Given the description of an element on the screen output the (x, y) to click on. 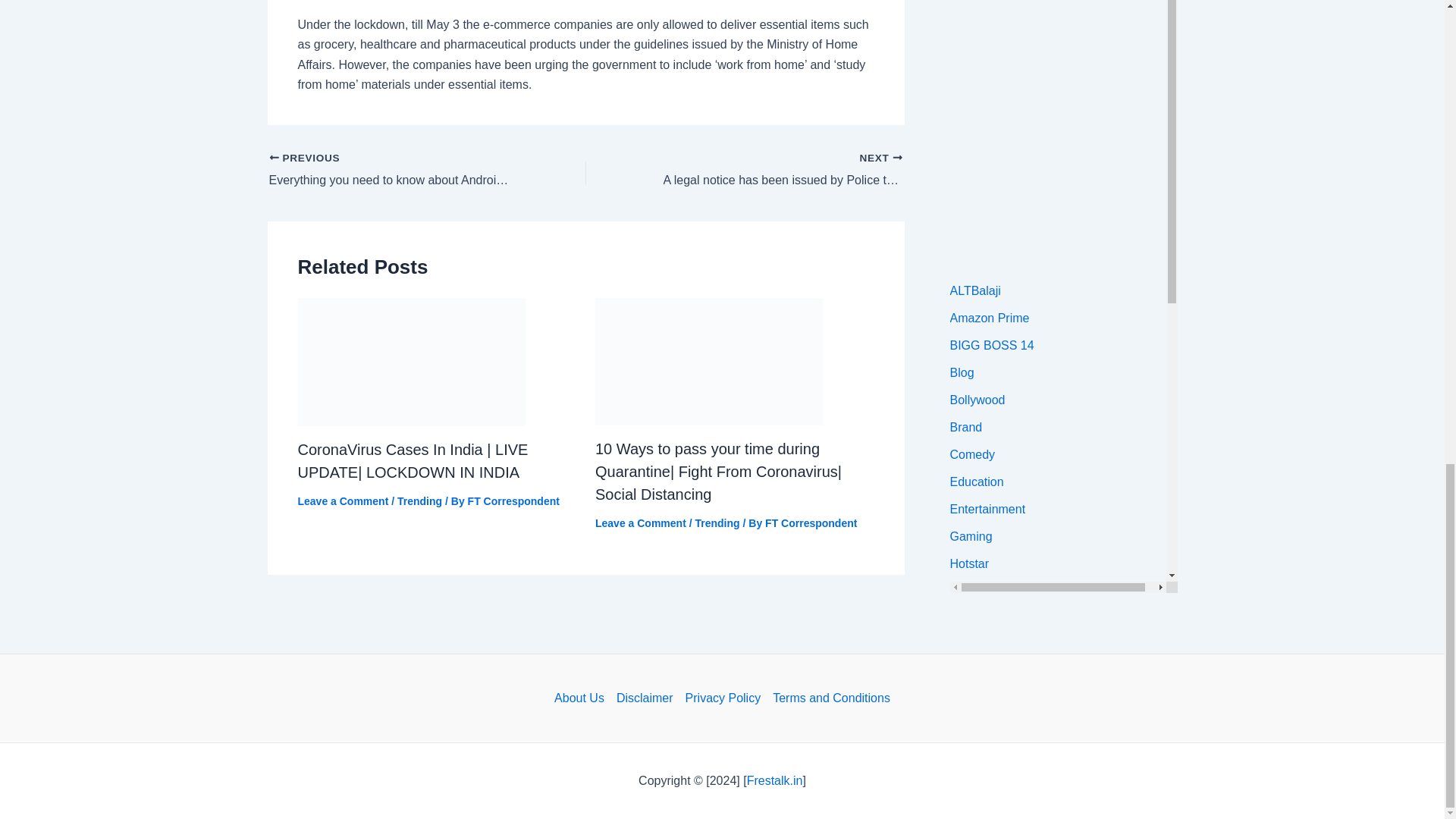
Trending (716, 522)
Trending (419, 500)
View all posts by FT Correspondent (811, 522)
View all posts by FT Correspondent (513, 500)
FT Correspondent (513, 500)
Everything you need to know about Android Engineering (394, 170)
FT Correspondent (811, 522)
Leave a Comment (342, 500)
Leave a Comment (640, 522)
